Given the description of an element on the screen output the (x, y) to click on. 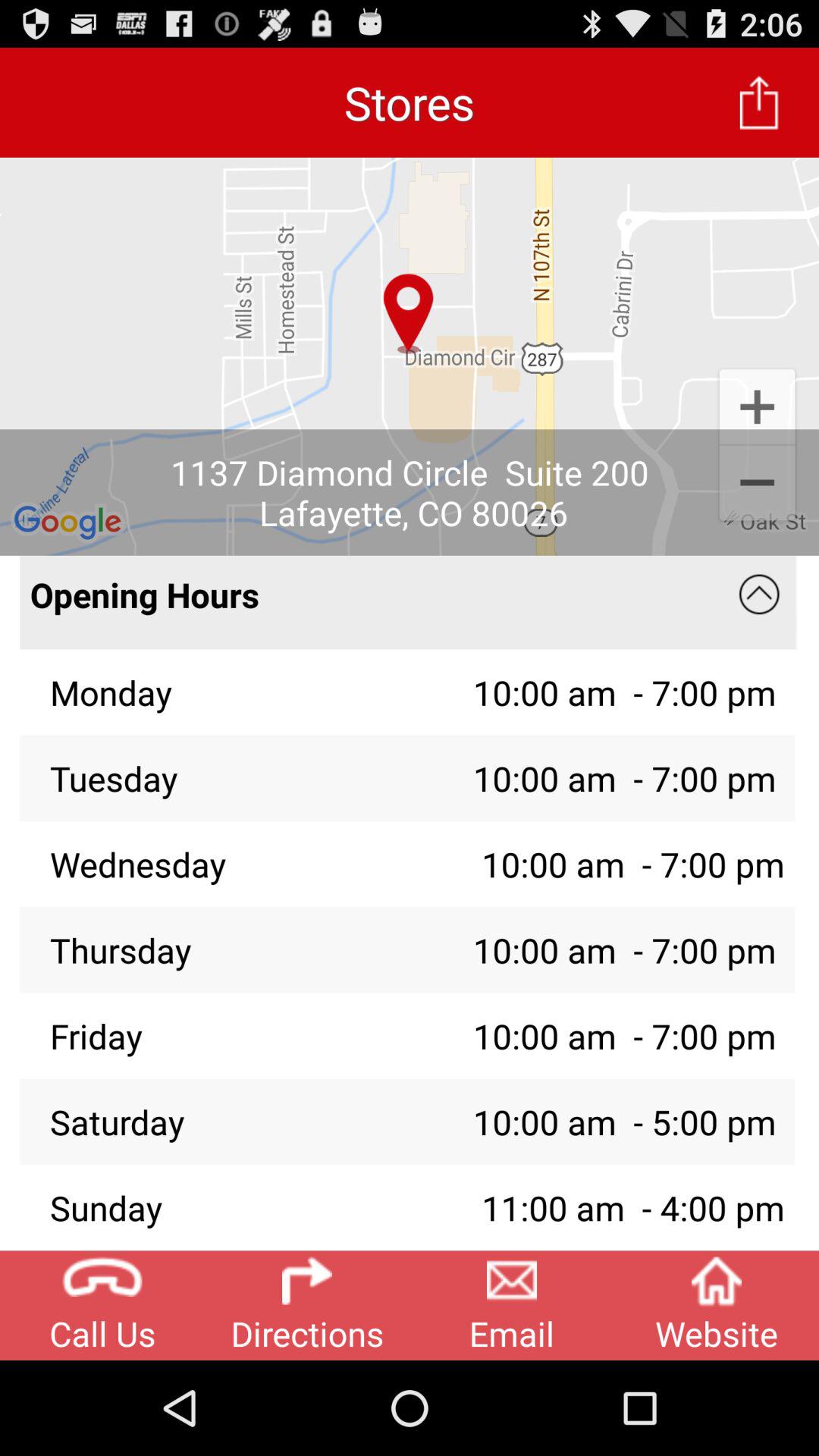
click the item below sunday  item (511, 1305)
